Given the description of an element on the screen output the (x, y) to click on. 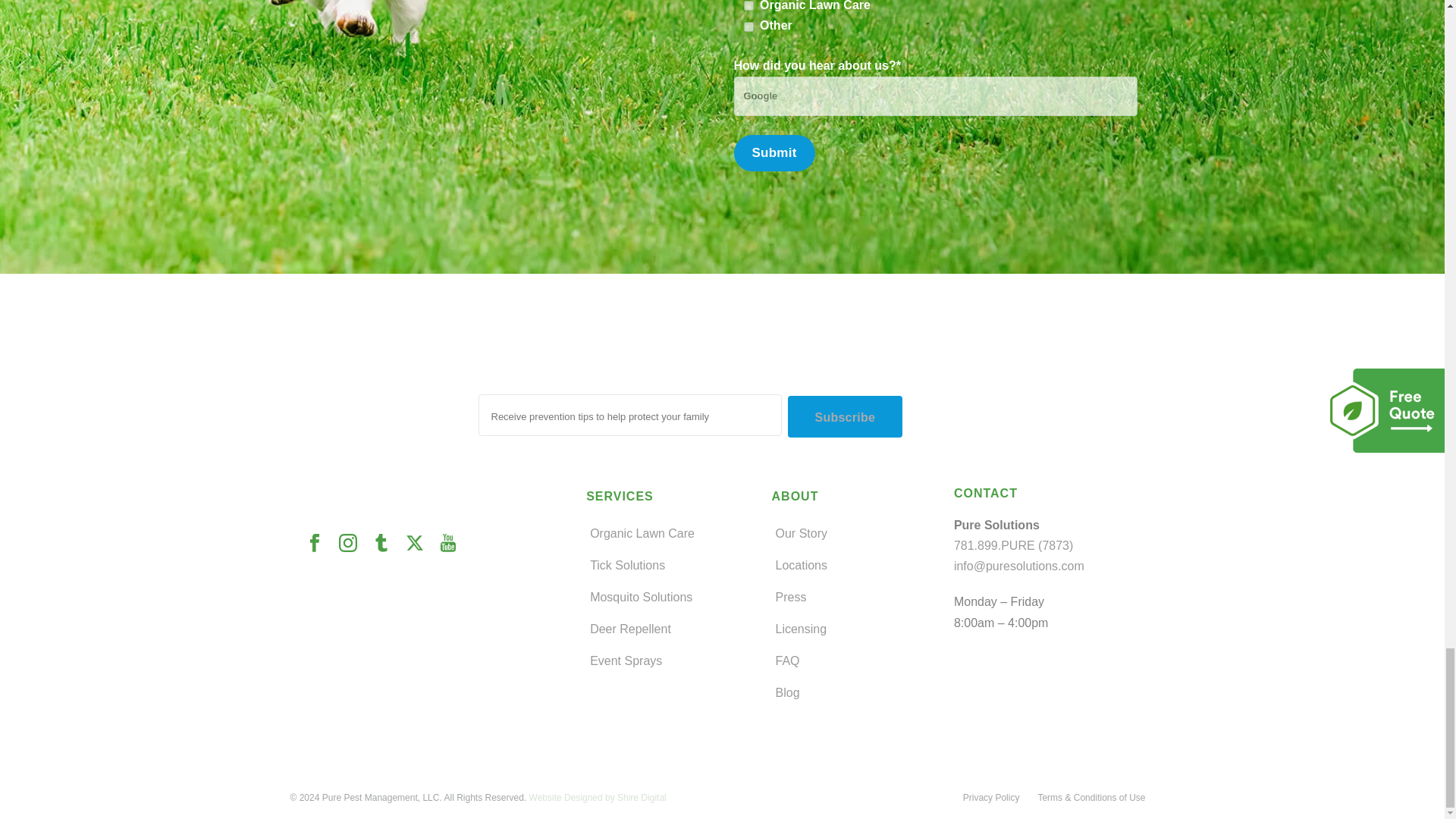
Submit (774, 153)
Organic Lawn Care (749, 5)
Follow Us on instagram (354, 543)
Follow Us on facebook (320, 543)
Other (749, 26)
Follow Us on tumblr (387, 543)
Subscribe (844, 416)
